Given the description of an element on the screen output the (x, y) to click on. 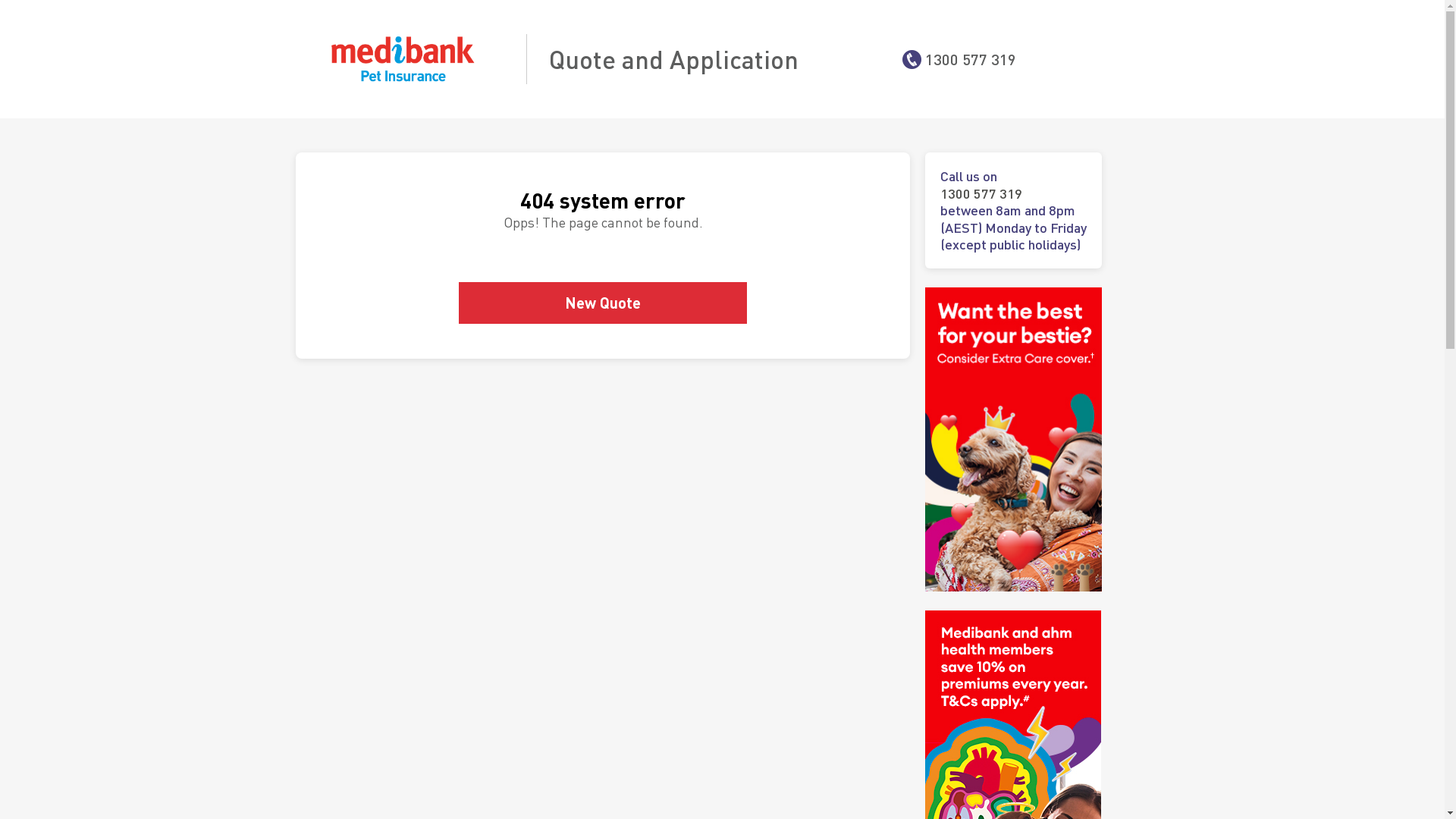
1300 577 319 Element type: text (970, 59)
1300 577 319 Element type: text (1013, 193)
New Quote Element type: text (602, 302)
